Given the description of an element on the screen output the (x, y) to click on. 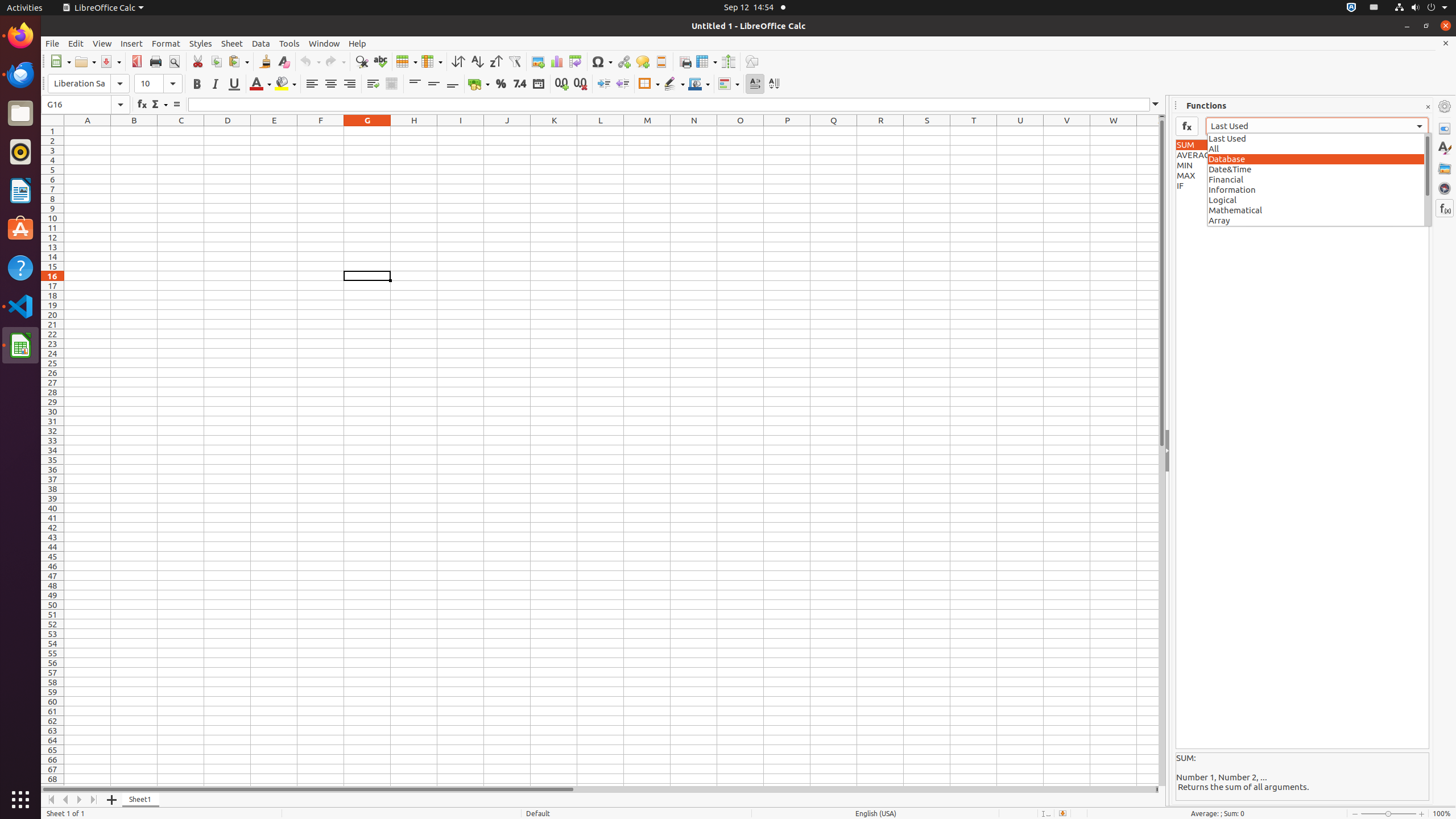
Percent Element type: push-button (500, 83)
Font Name Element type: combo-box (88, 83)
:1.72/StatusNotifierItem Element type: menu (1350, 7)
All Element type: list-item (1319, 148)
Delete Decimal Place Element type: push-button (580, 83)
